Given the description of an element on the screen output the (x, y) to click on. 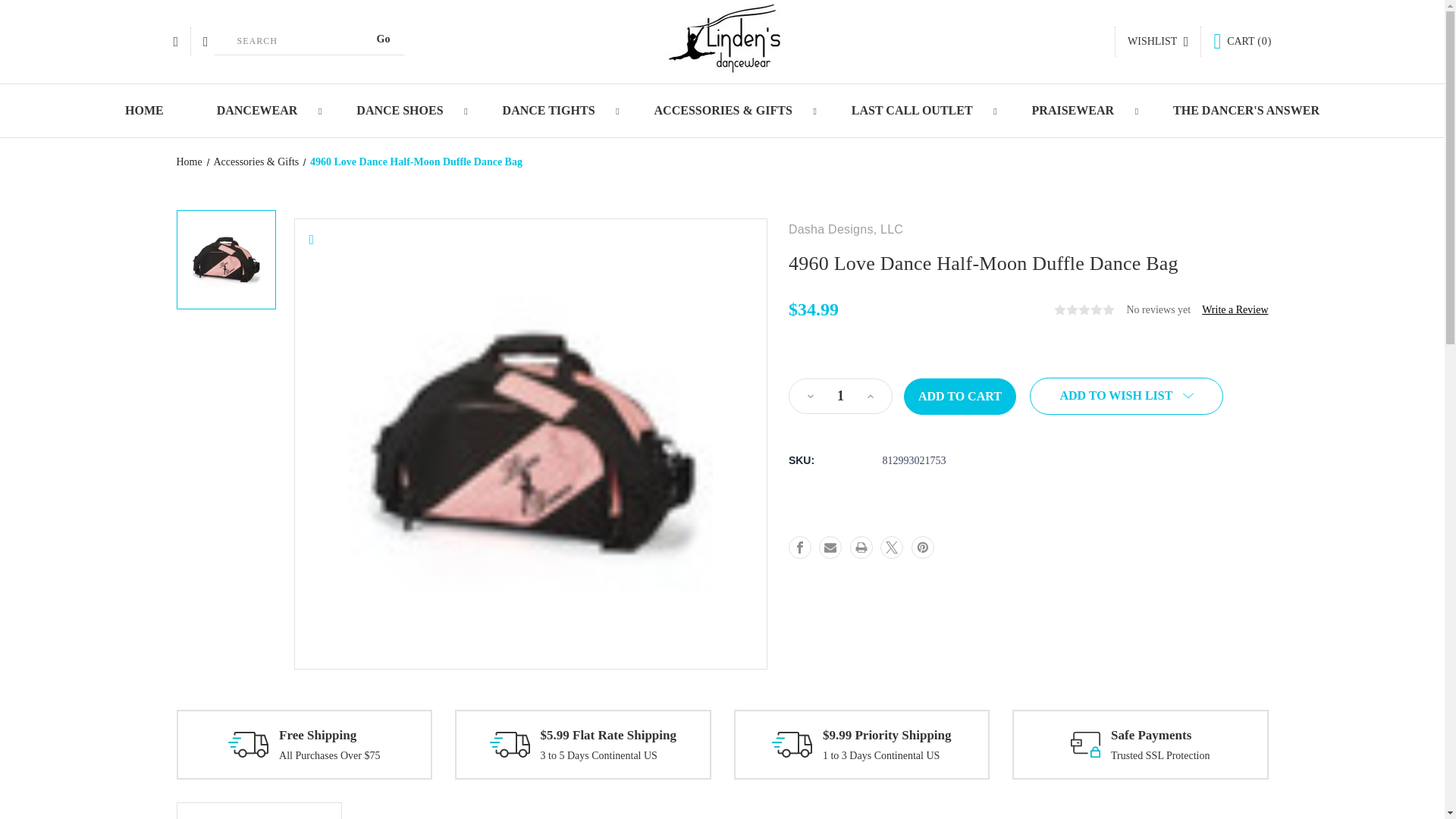
Print (861, 547)
1 (840, 396)
Free Shipping  (247, 744)
CART 0 (1241, 41)
DANCE SHOES (403, 110)
Add to Cart (960, 396)
Linden's Dancewear (722, 41)
DANCEWEAR (260, 110)
X (891, 547)
Facebook (799, 547)
Email (829, 547)
Go (383, 39)
Pinterest (922, 547)
DANCE TIGHTS (551, 110)
HOME (144, 110)
